Given the description of an element on the screen output the (x, y) to click on. 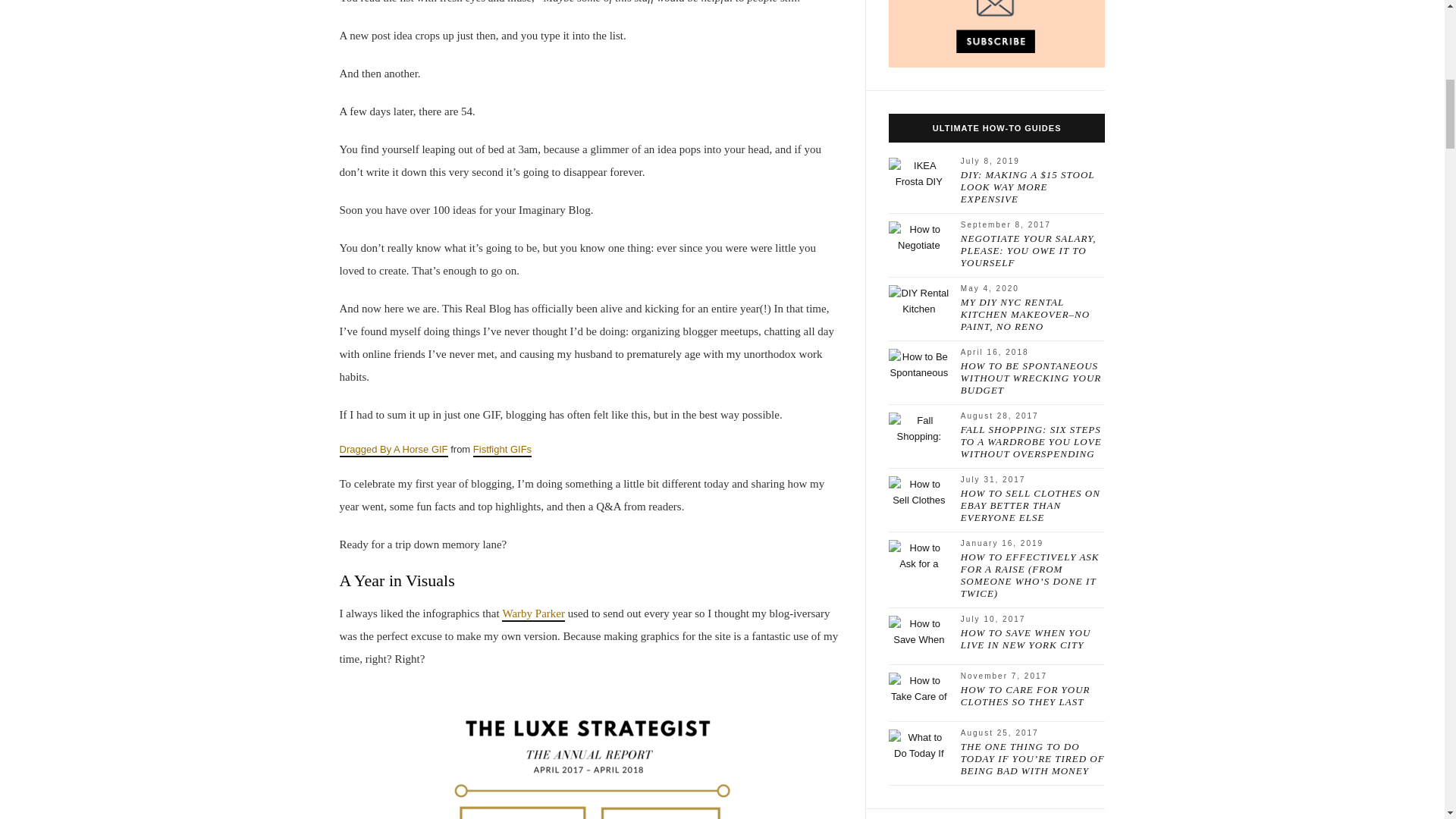
Warby Parker (533, 614)
Dragged By A Horse GIF (393, 450)
Fistfight GIFs (502, 450)
